Given the description of an element on the screen output the (x, y) to click on. 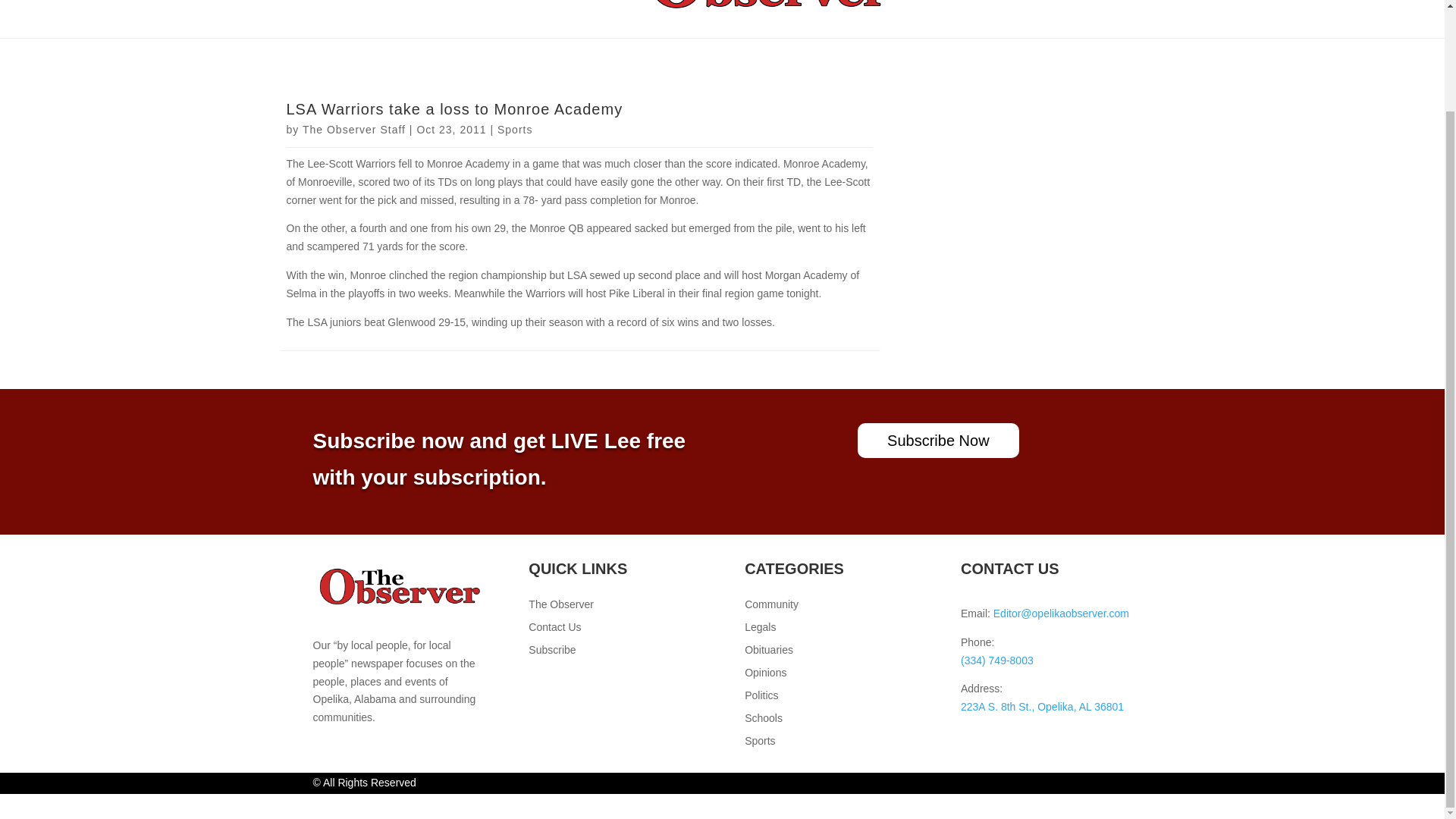
Digital Publications (451, 11)
News (339, 11)
Columnists (580, 11)
Posts by The Observer Staff (354, 129)
